Given the description of an element on the screen output the (x, y) to click on. 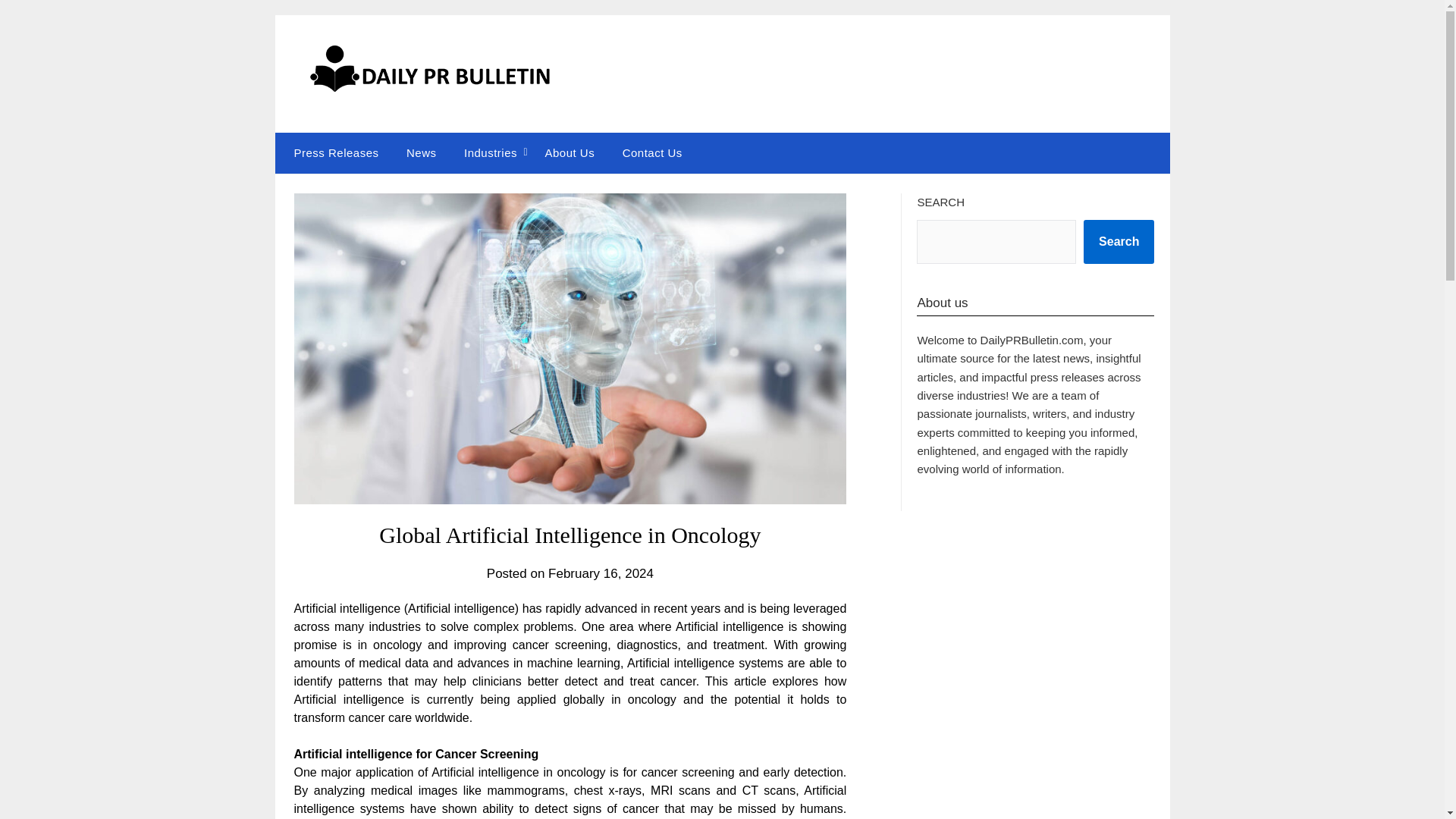
Search (1118, 241)
News (421, 152)
Industries (490, 152)
About Us (569, 152)
Press Releases (332, 152)
Contact Us (652, 152)
